Given the description of an element on the screen output the (x, y) to click on. 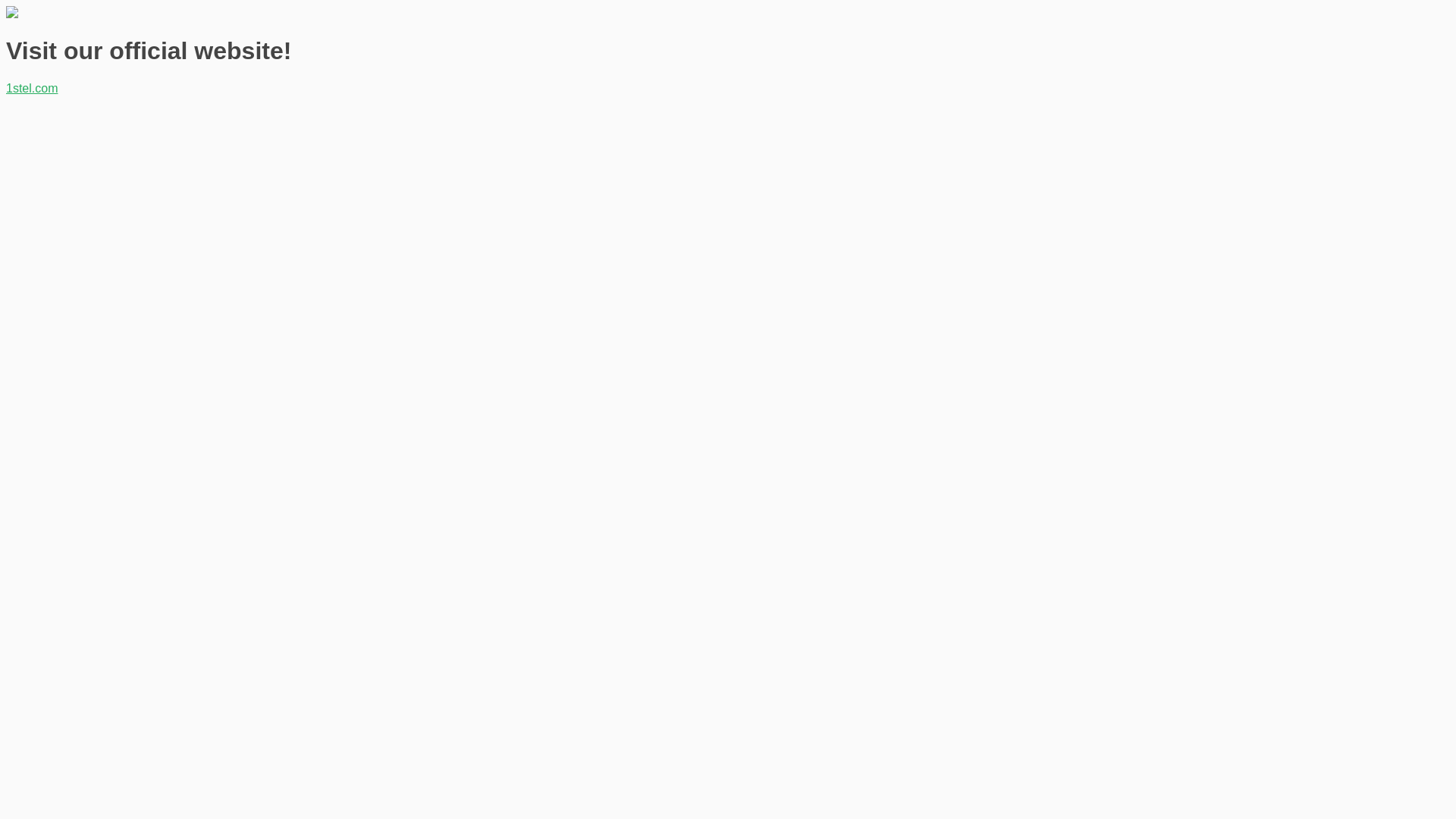
1stel.com Element type: text (31, 87)
